Given the description of an element on the screen output the (x, y) to click on. 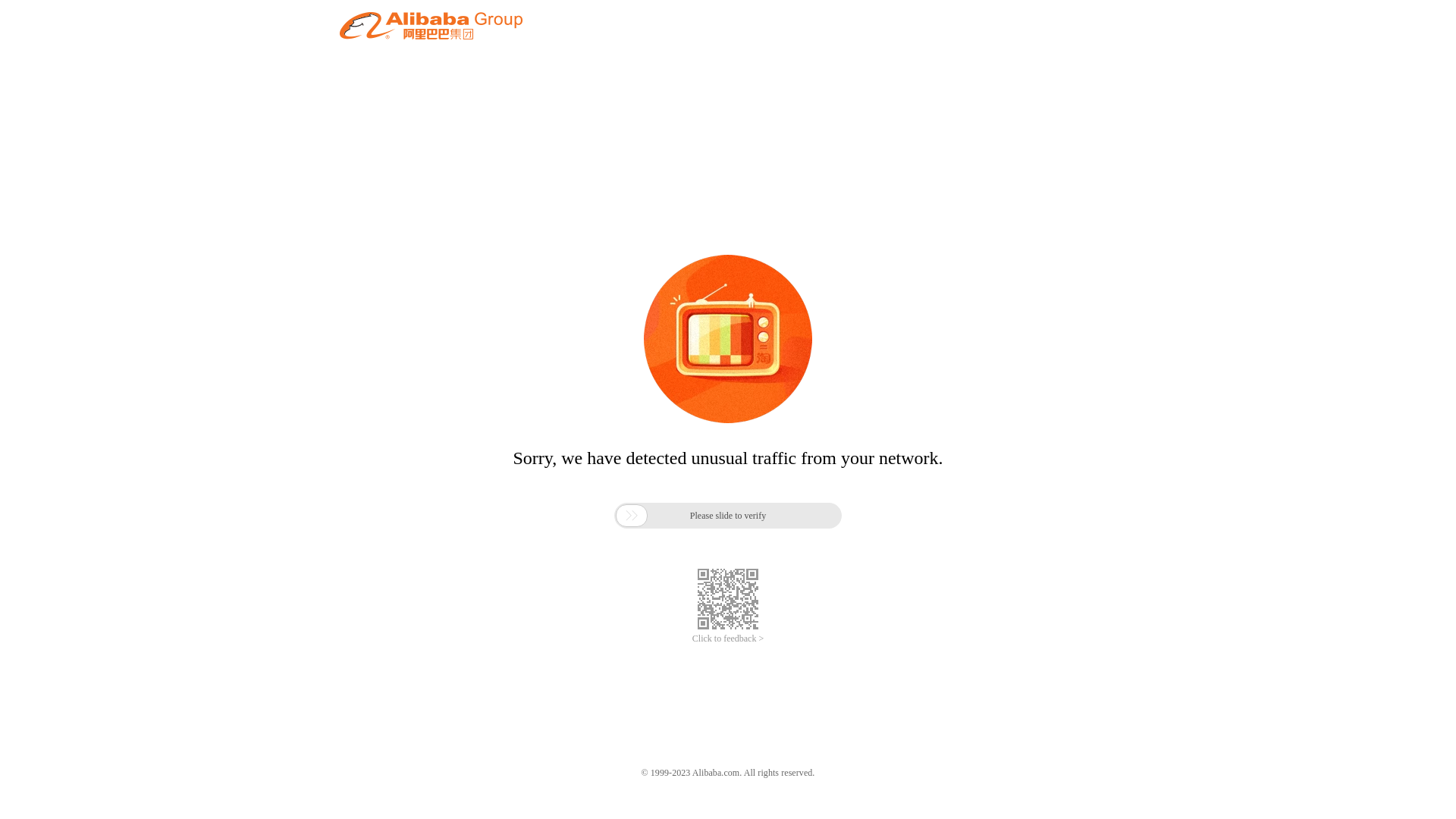
Click to feedback > Element type: text (727, 638)
